Given the description of an element on the screen output the (x, y) to click on. 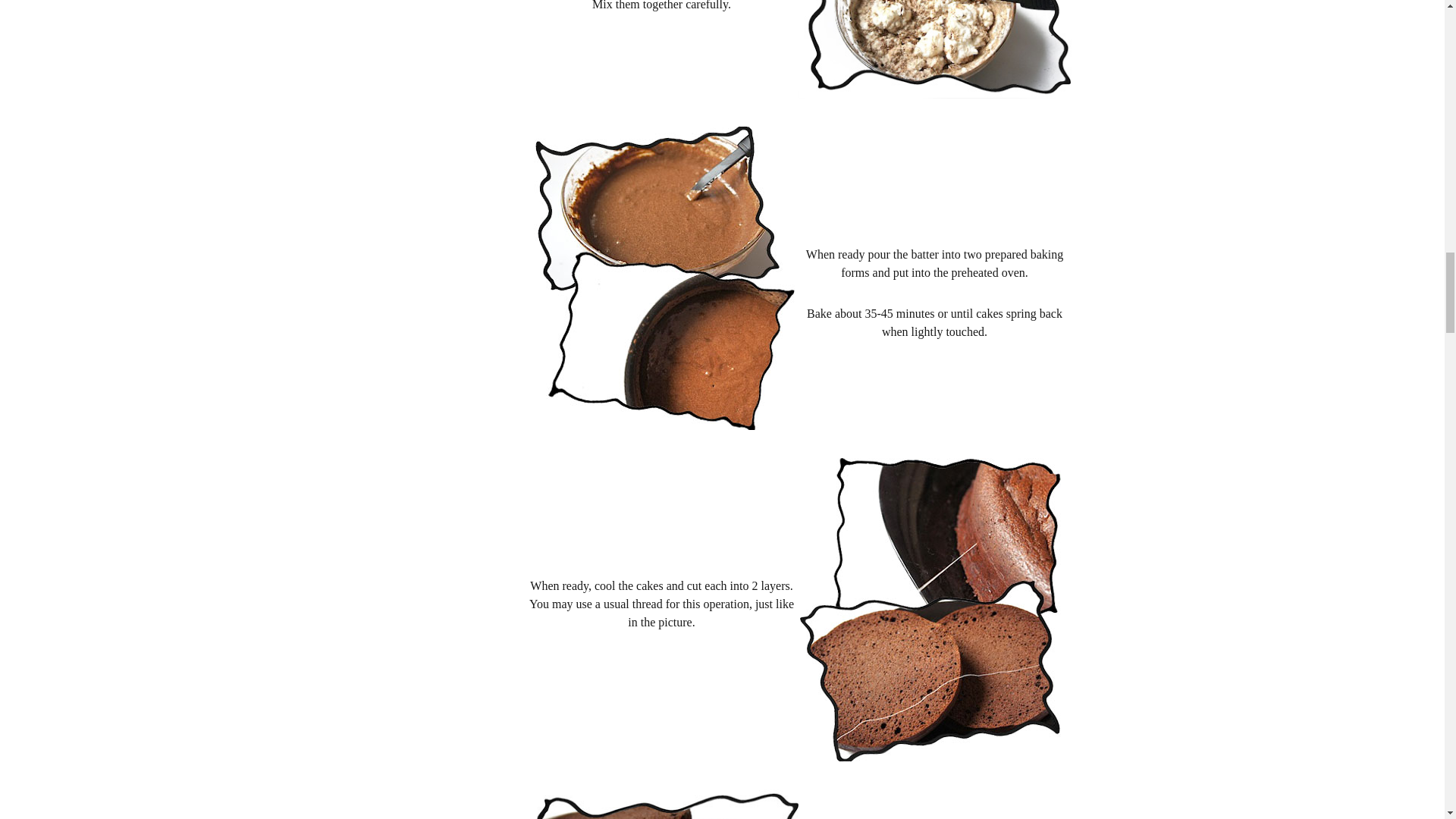
Chocolate cake layers (660, 804)
Folding in egg whites (933, 49)
Cutting cake layers with a thread (933, 609)
